Given the description of an element on the screen output the (x, y) to click on. 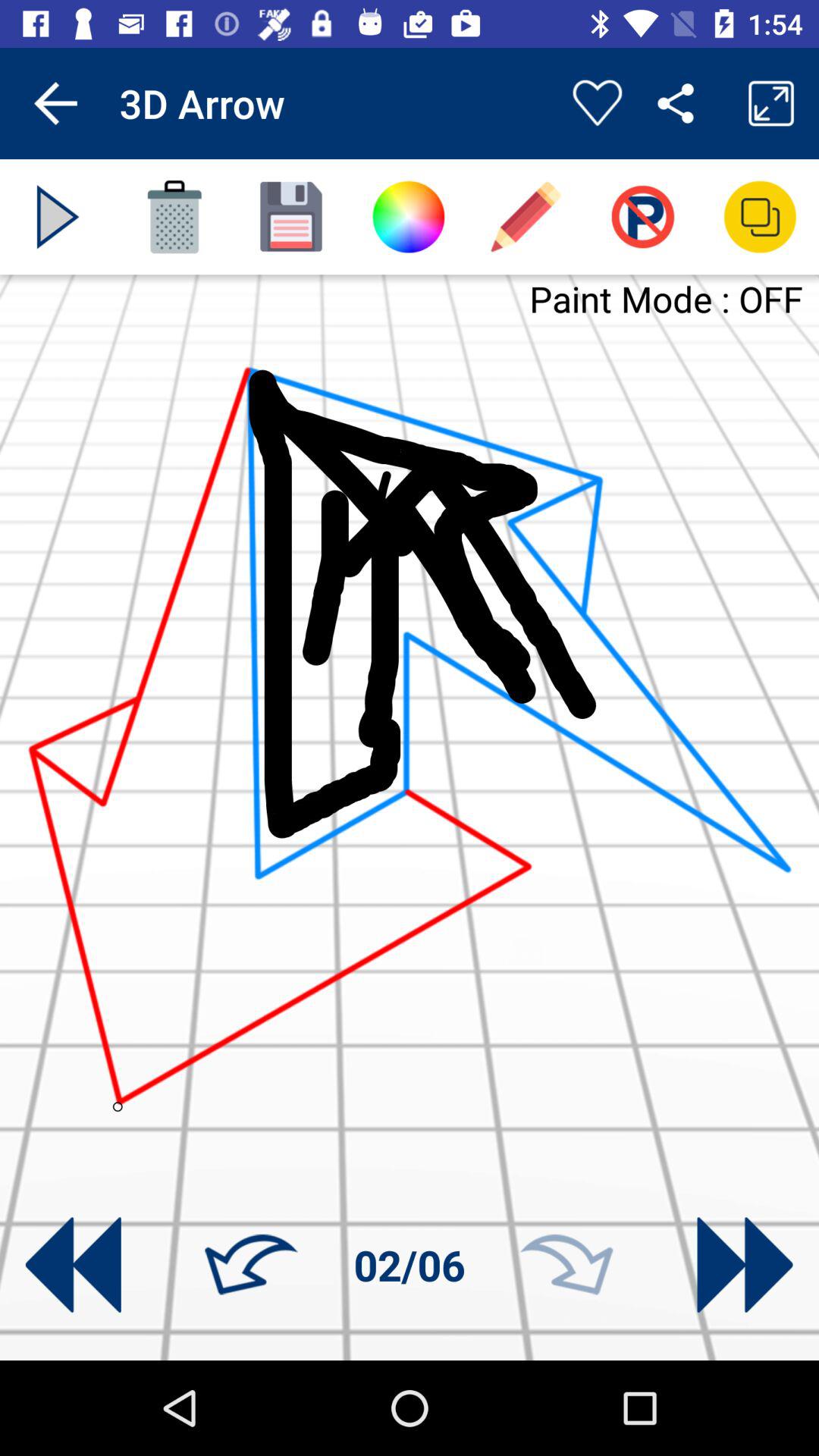
save image (291, 216)
